Given the description of an element on the screen output the (x, y) to click on. 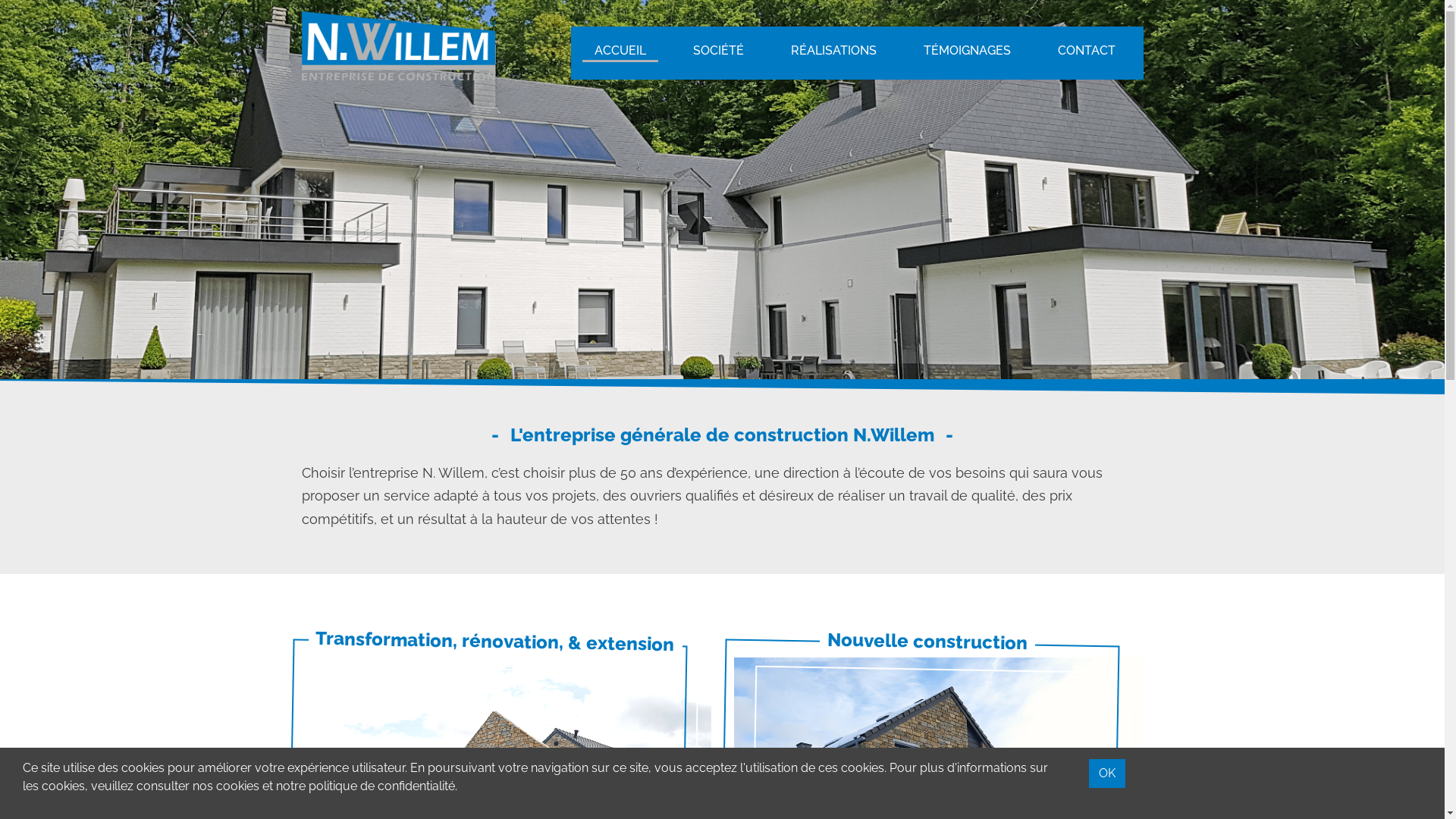
OK Element type: text (1106, 773)
CONTACT Element type: text (1085, 53)
ACCUEIL Element type: text (620, 53)
srl N.Willem Element type: hover (398, 45)
